Given the description of an element on the screen output the (x, y) to click on. 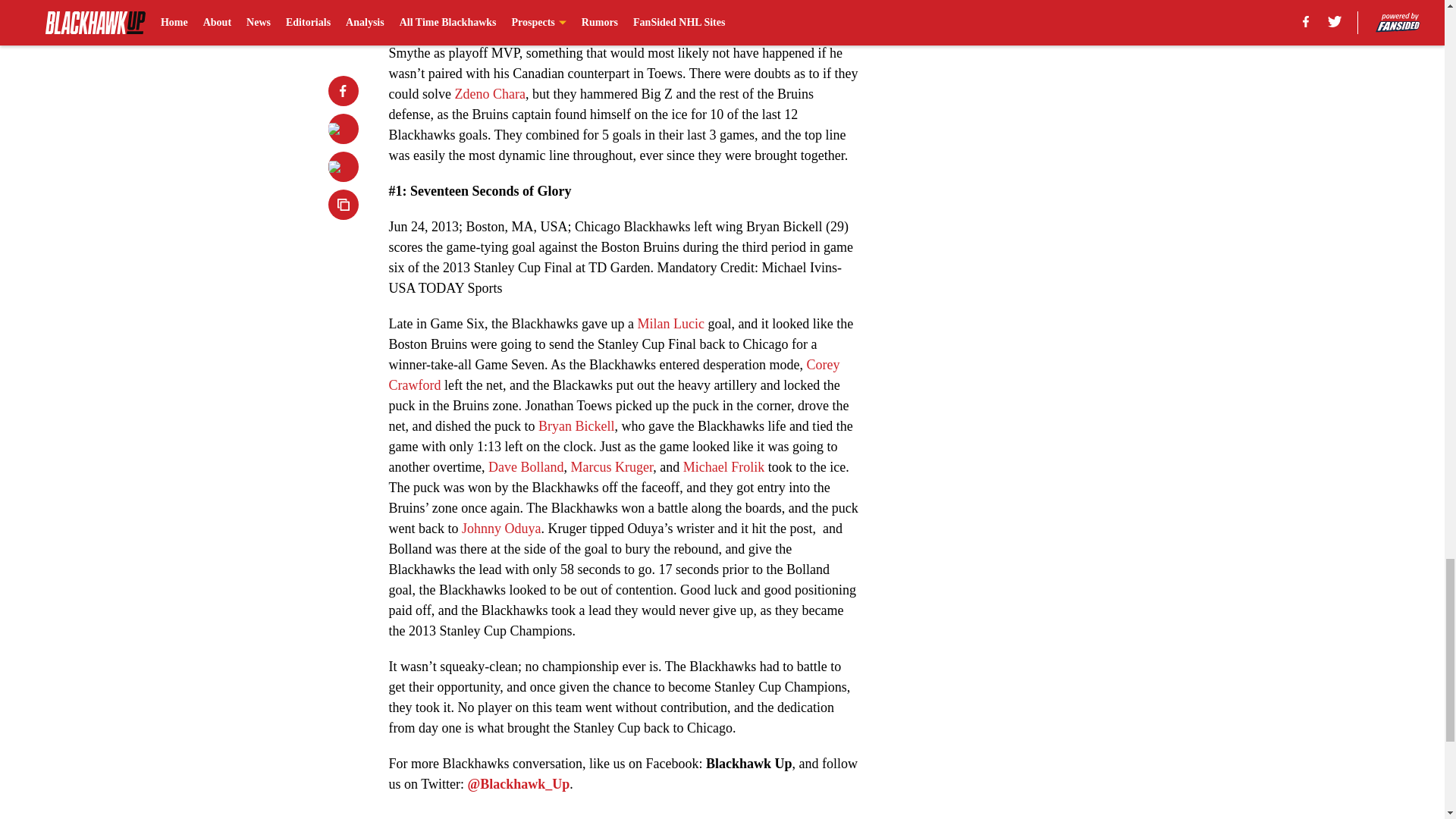
Marcus Kruger (611, 467)
Michael Frolik (723, 467)
Bryan Bickell (576, 426)
Zdeno Chara (489, 93)
Dave Bolland (525, 467)
Corey Crawford (614, 375)
Johnny Oduya (501, 528)
Milan Lucic (670, 323)
